Given the description of an element on the screen output the (x, y) to click on. 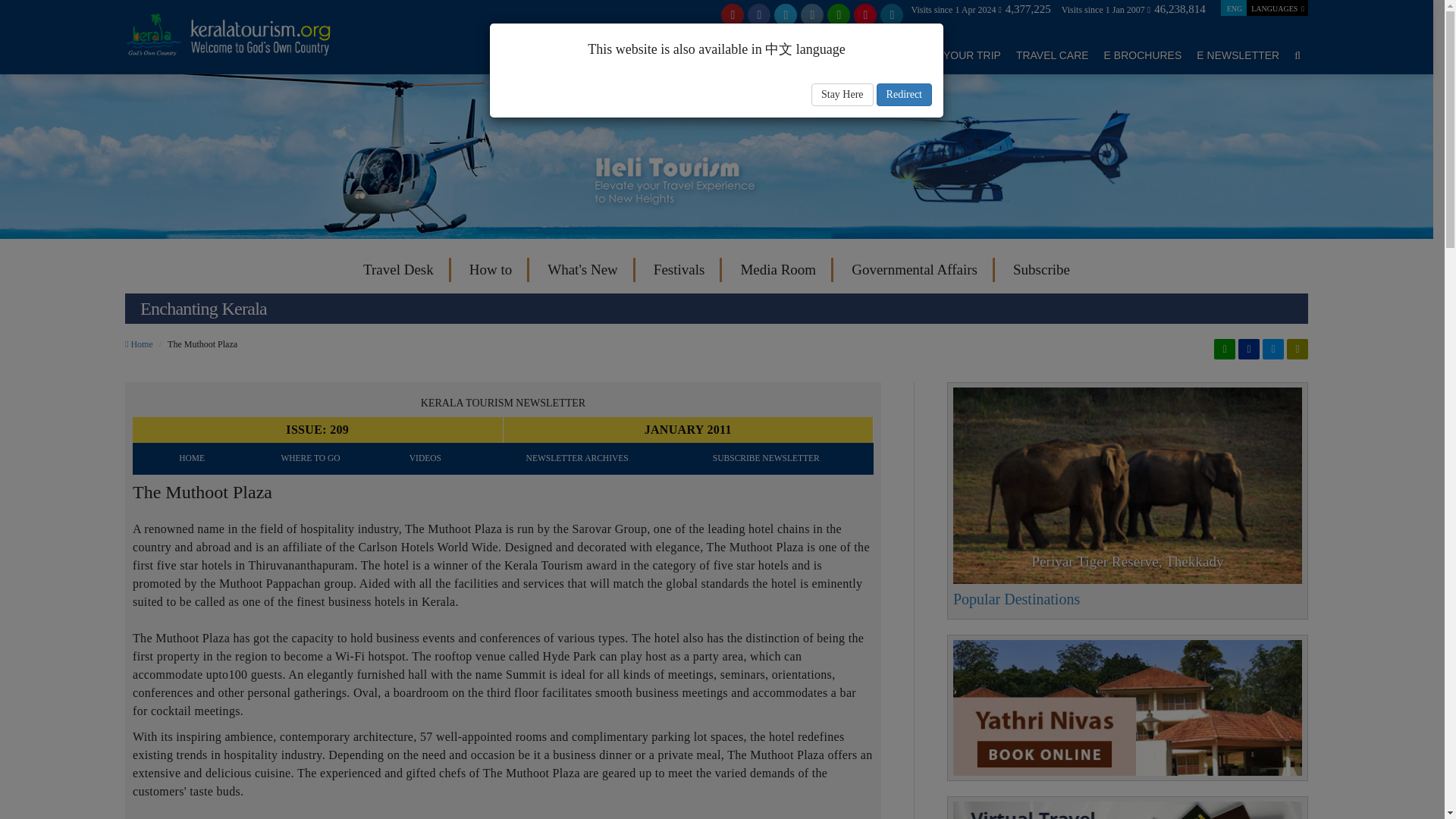
THINGS TO DO (859, 55)
Periyar Tiger Reserve, Thekkady (1127, 485)
Stay Here (841, 94)
EXPERIENCE KERALA (556, 55)
E BROCHURES (1142, 55)
Governmental Affairs (914, 269)
TRAVEL CARE (1052, 55)
Travel Desk (397, 269)
How to (490, 269)
WHERE TO STAY (763, 55)
